Given the description of an element on the screen output the (x, y) to click on. 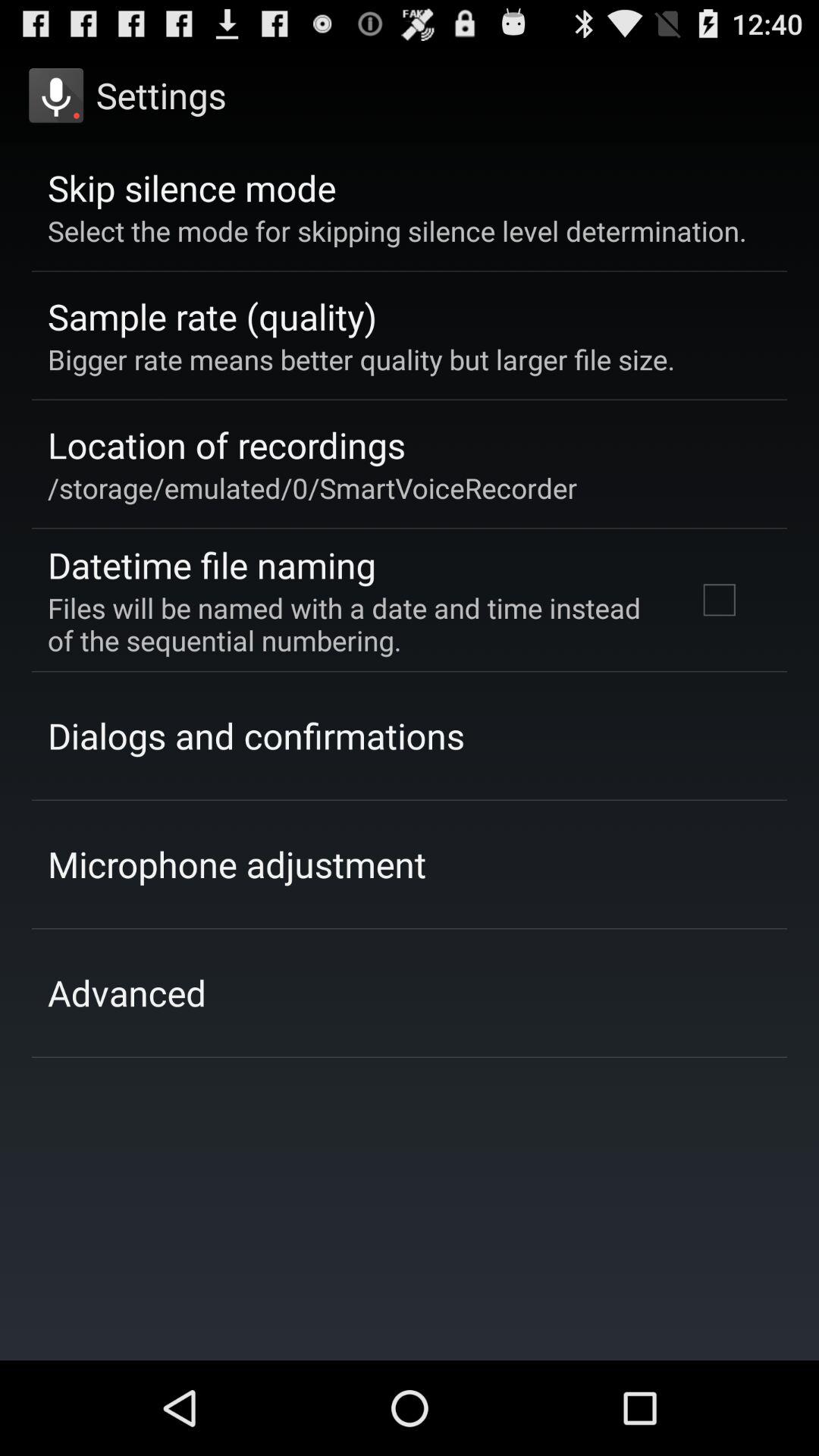
click the app above the datetime file naming app (312, 487)
